Given the description of an element on the screen output the (x, y) to click on. 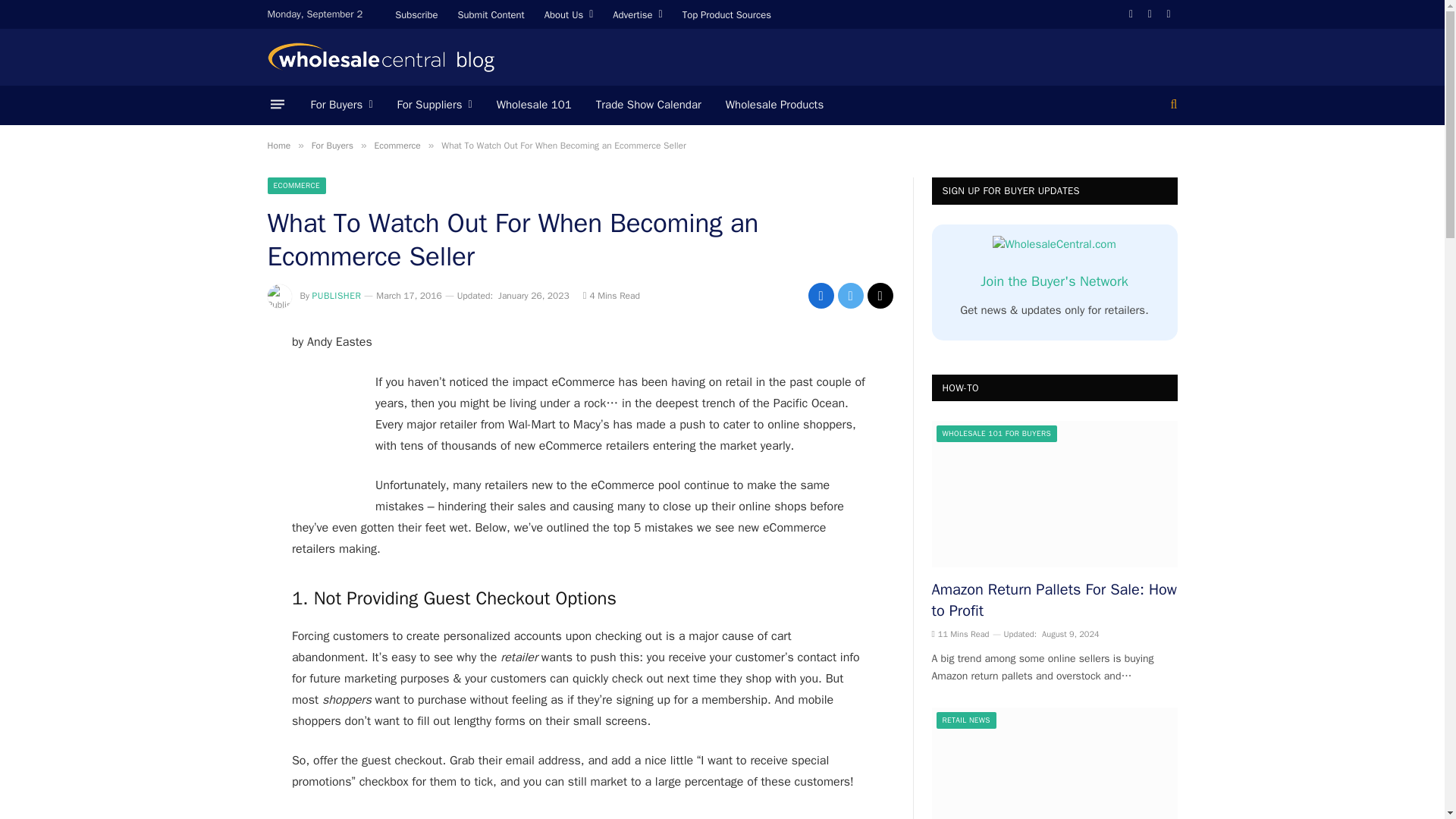
Submit Content (491, 14)
About Us (569, 14)
Subscribe (415, 14)
Posts by Publisher (337, 295)
Top Product Sources (726, 14)
For Buyers (341, 103)
Share via Email (880, 295)
Share on Facebook (821, 295)
Advertise (636, 14)
WholesaleCentral.com Blog (380, 57)
